Given the description of an element on the screen output the (x, y) to click on. 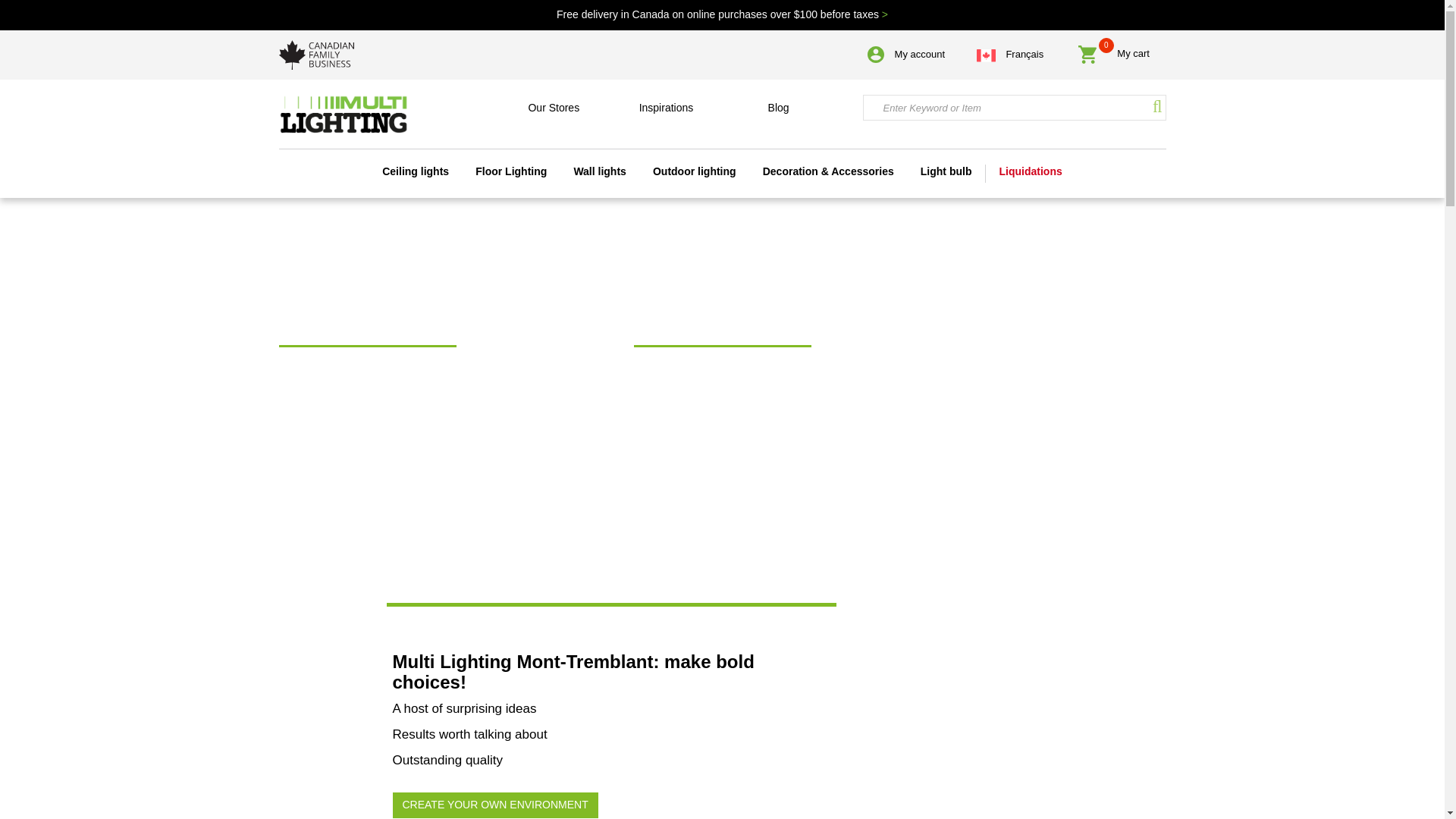
0 My cart (1113, 54)
Multi Lighting (343, 105)
My account (905, 53)
